Given the description of an element on the screen output the (x, y) to click on. 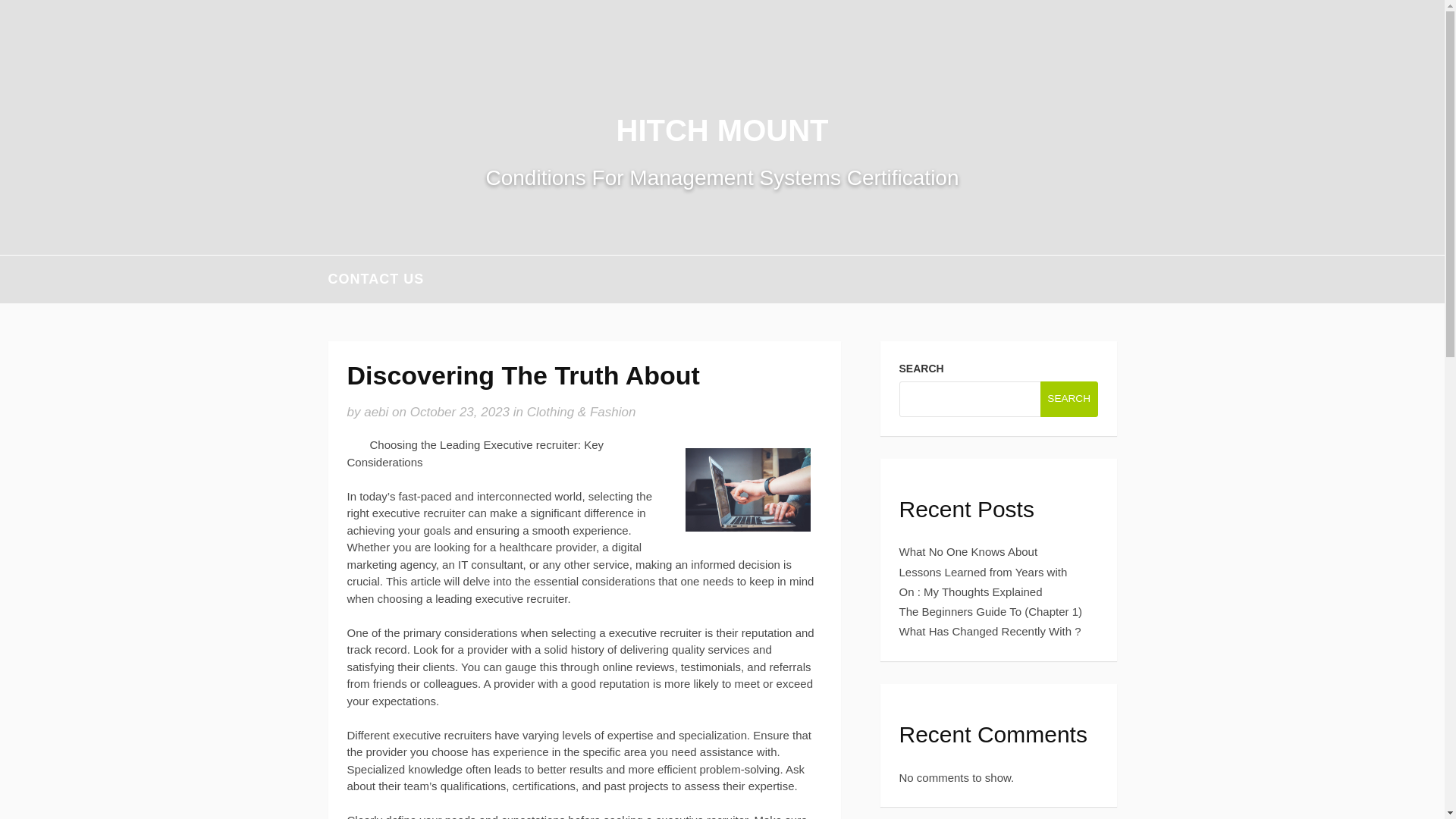
On : My Thoughts Explained (970, 591)
CONTACT US (375, 279)
HITCH MOUNT (721, 130)
SEARCH (1069, 398)
Lessons Learned from Years with (983, 571)
aebi (376, 411)
What Has Changed Recently With ? (990, 631)
What No One Knows About (968, 551)
October 23, 2023 (459, 411)
